Given the description of an element on the screen output the (x, y) to click on. 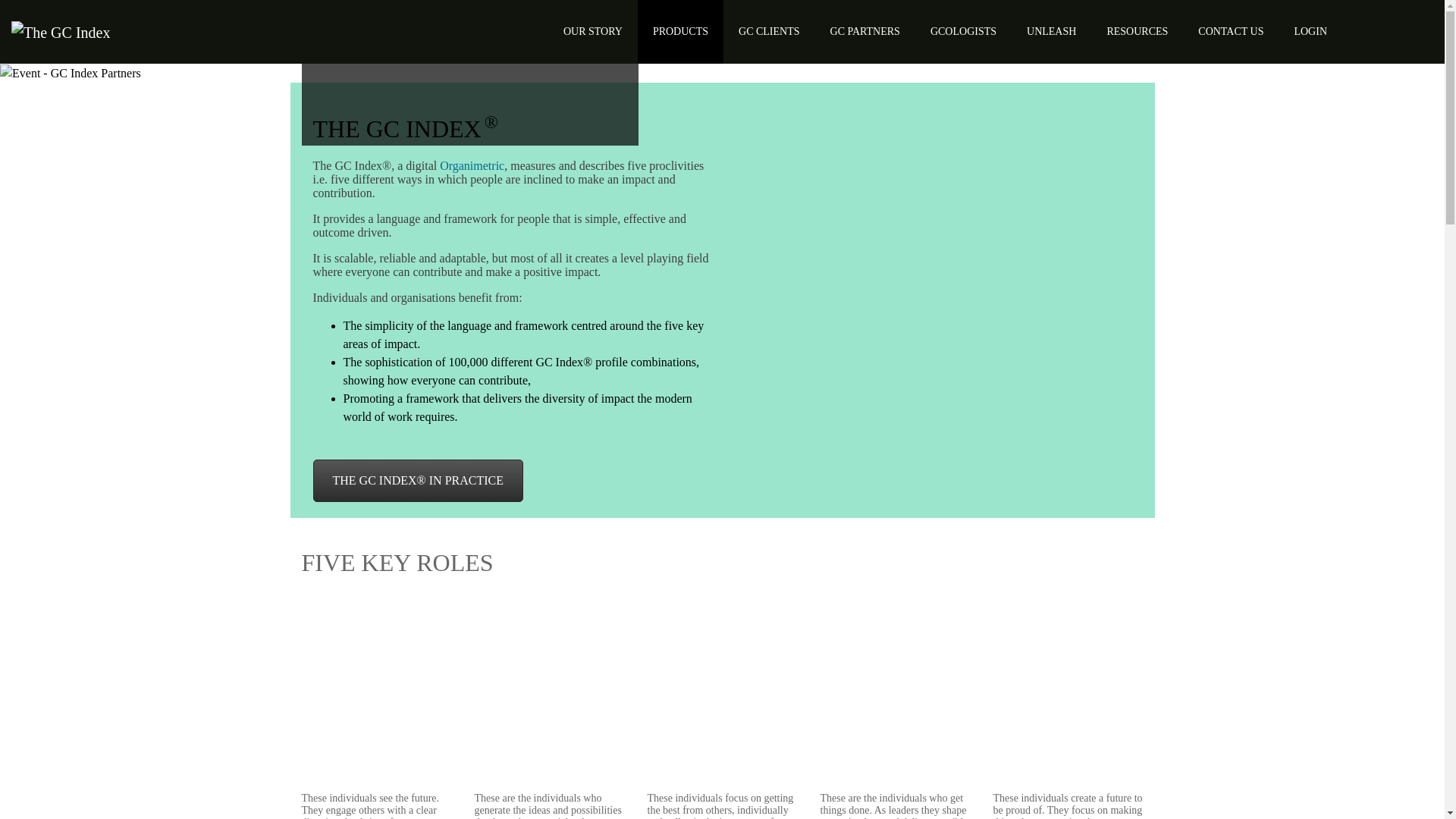
GC CLIENTS (769, 31)
PRODUCTS (680, 31)
GCOLOGISTS (963, 31)
GC PARTNERS (865, 31)
OUR STORY (592, 31)
GC Platform (1310, 31)
UNLEASH (1050, 31)
